Given the description of an element on the screen output the (x, y) to click on. 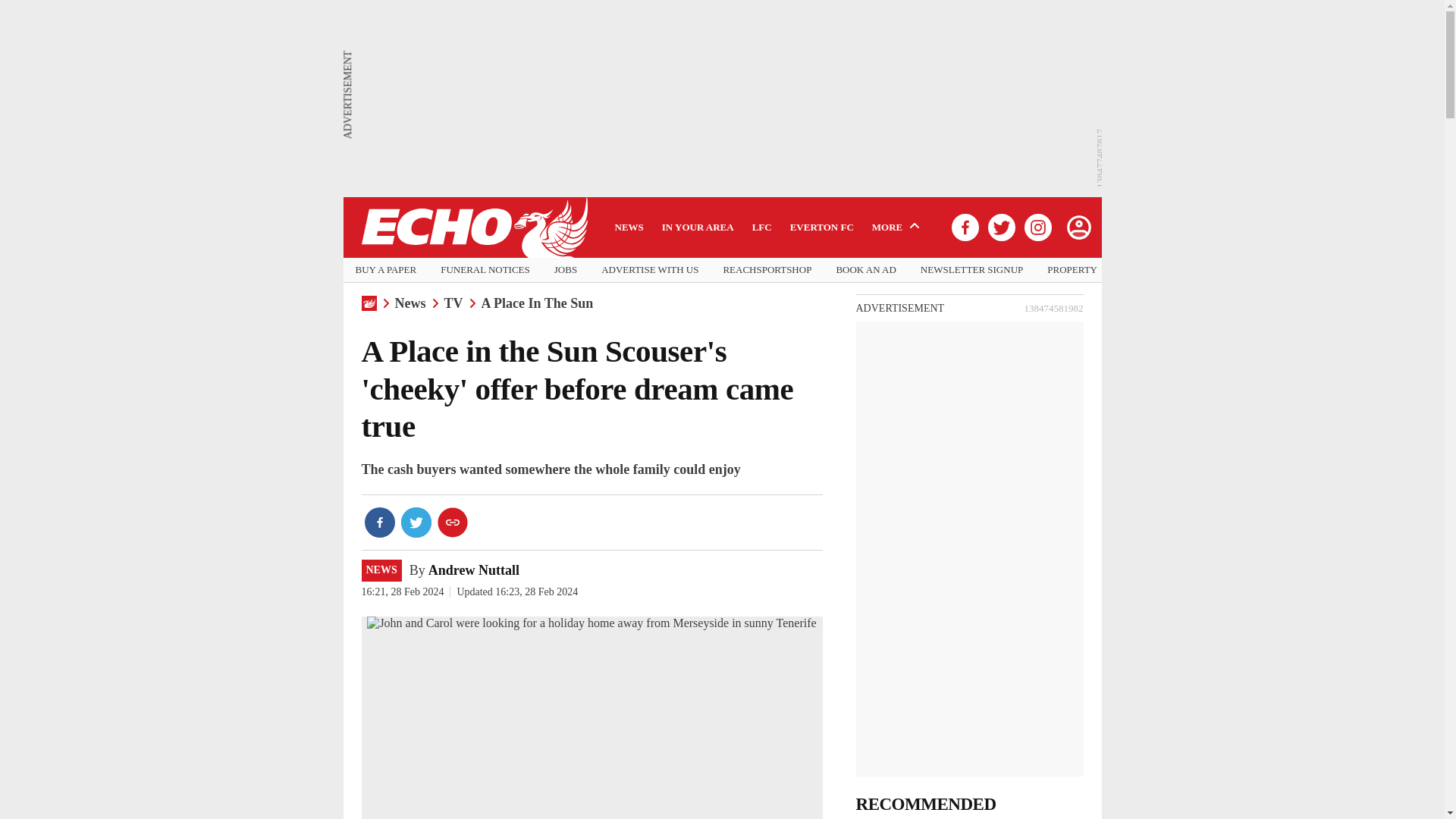
News (409, 303)
avatar (1077, 227)
Go to the Liverpool Echo homepage (473, 227)
NEWS (381, 570)
EVERTON FC (821, 227)
BUY A PAPER (385, 270)
ADVERTISE WITH US (649, 270)
PROPERTY (1071, 270)
copy link (451, 521)
JOBS (565, 270)
IN YOUR AREA (697, 227)
FUNERAL NOTICES (485, 270)
REACHSPORTSHOP (766, 270)
A Place In The Sun (537, 303)
